Given the description of an element on the screen output the (x, y) to click on. 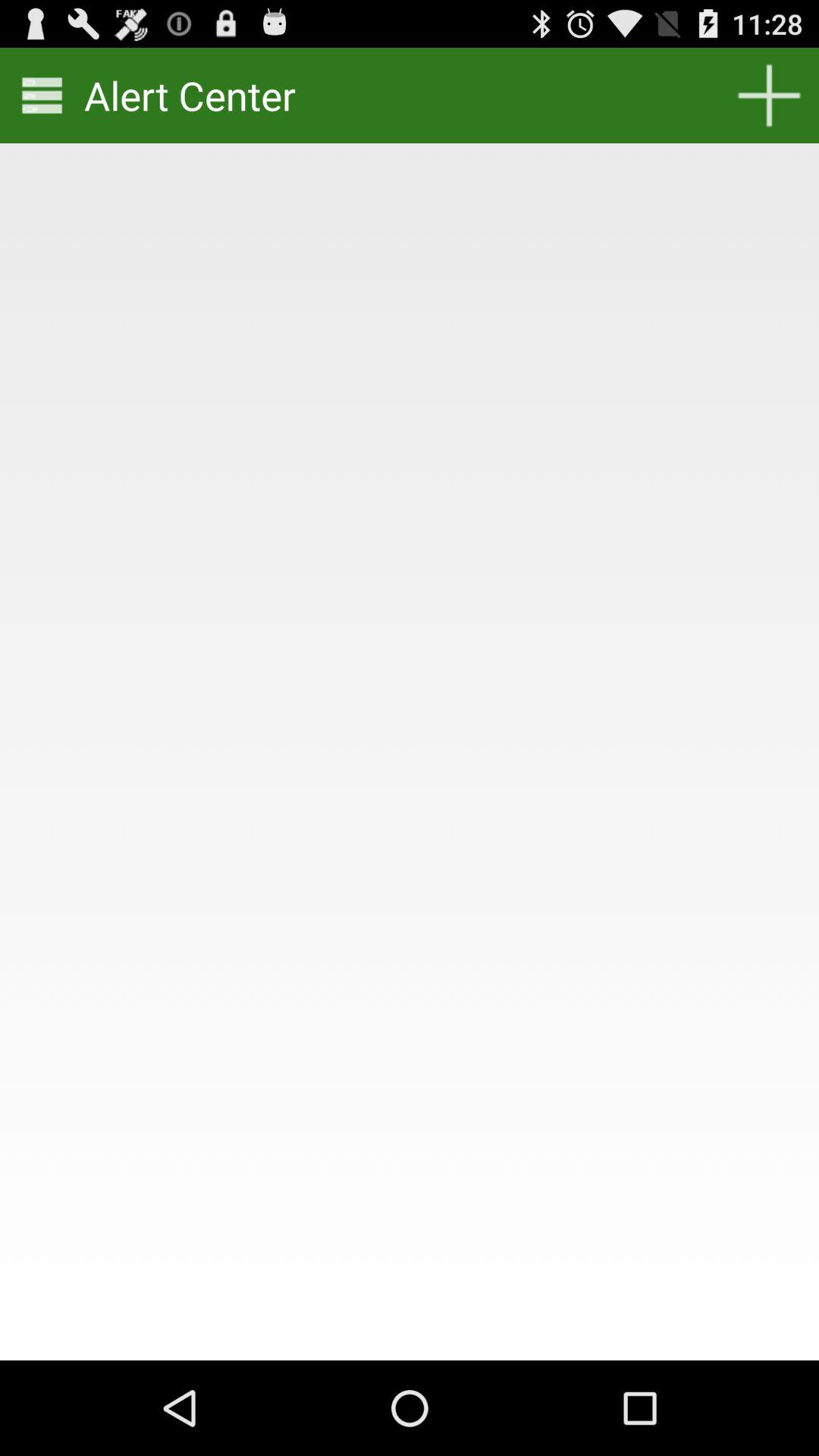
select the item to the right of the alert center app (769, 95)
